Given the description of an element on the screen output the (x, y) to click on. 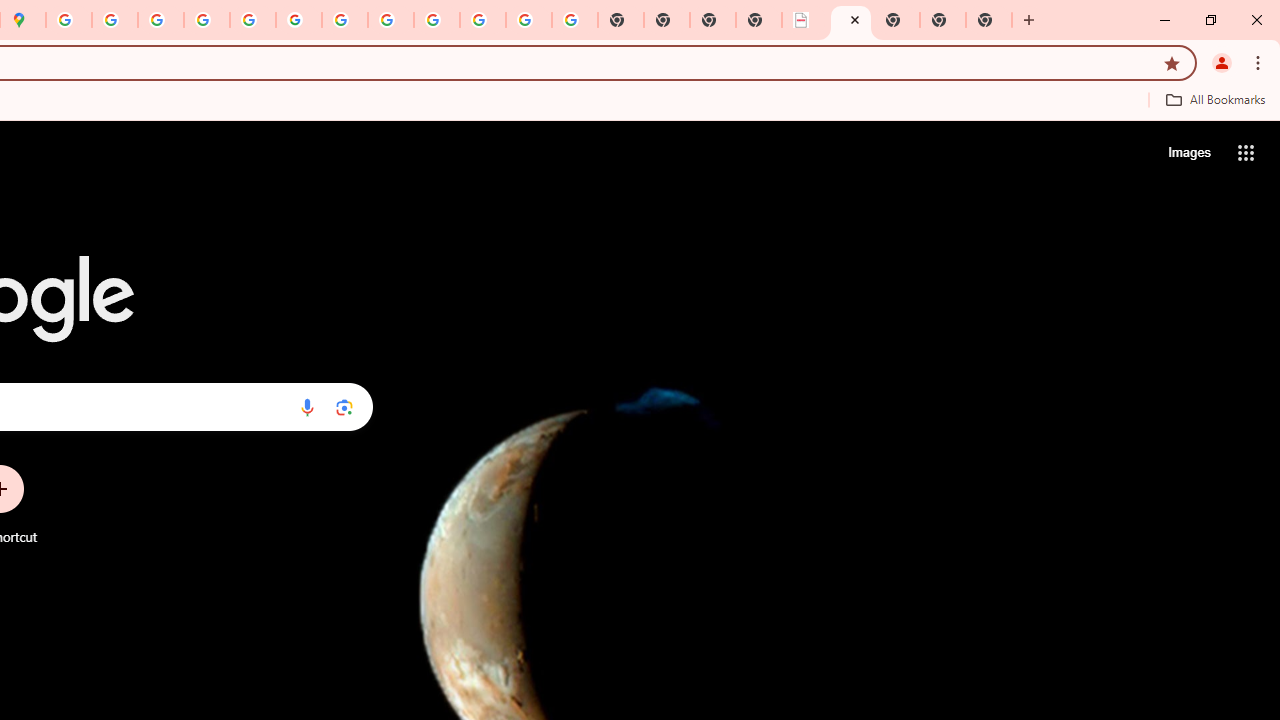
LAAD Defence & Security 2025 | BAE Systems (805, 20)
YouTube (345, 20)
New Tab (989, 20)
